Given the description of an element on the screen output the (x, y) to click on. 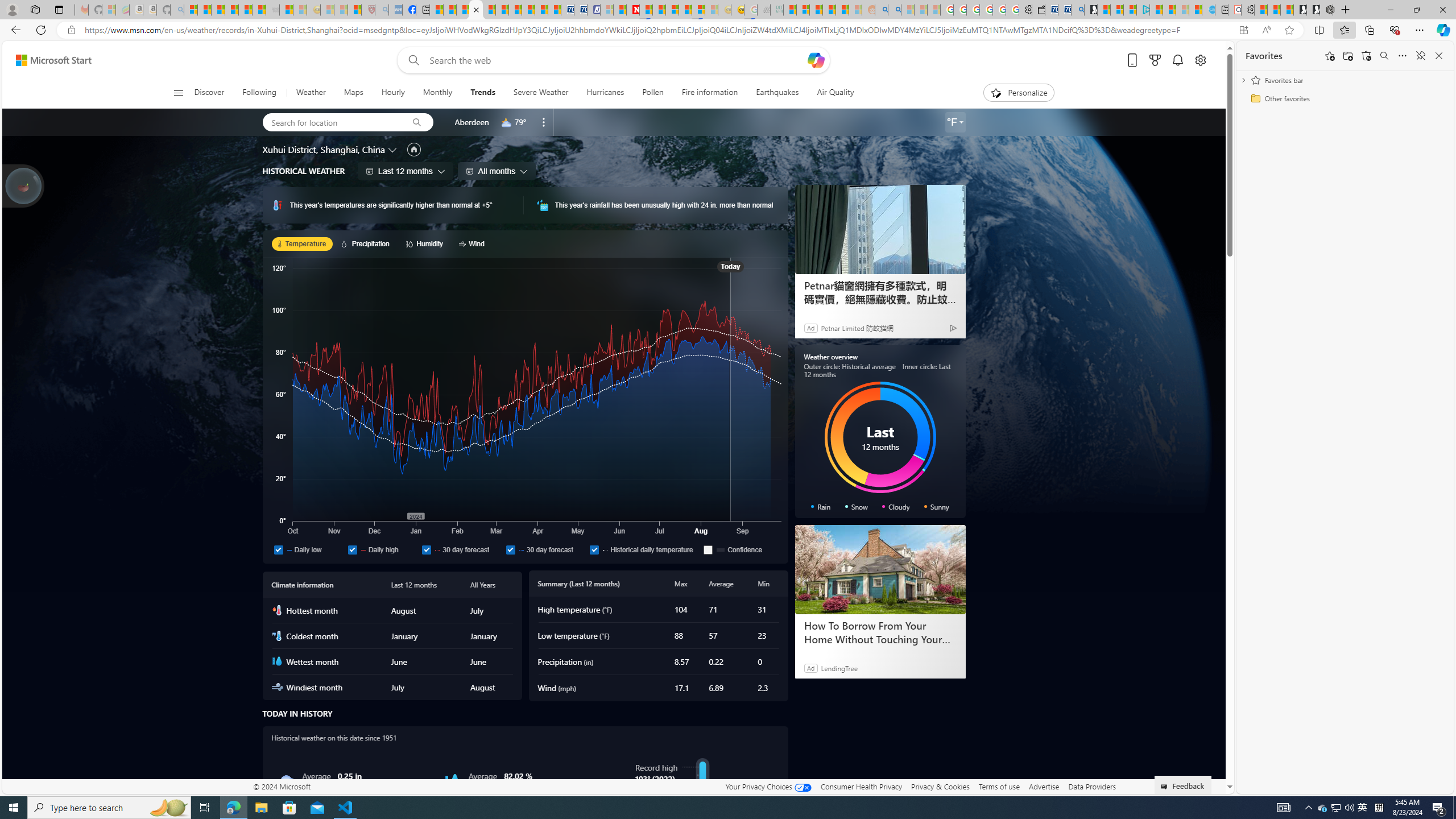
Latest Politics News & Archive | Newsweek.com (633, 9)
Temperature (301, 243)
Monthly (437, 92)
Data Providers (1091, 785)
Monthly (437, 92)
Humidity (451, 781)
